Given the description of an element on the screen output the (x, y) to click on. 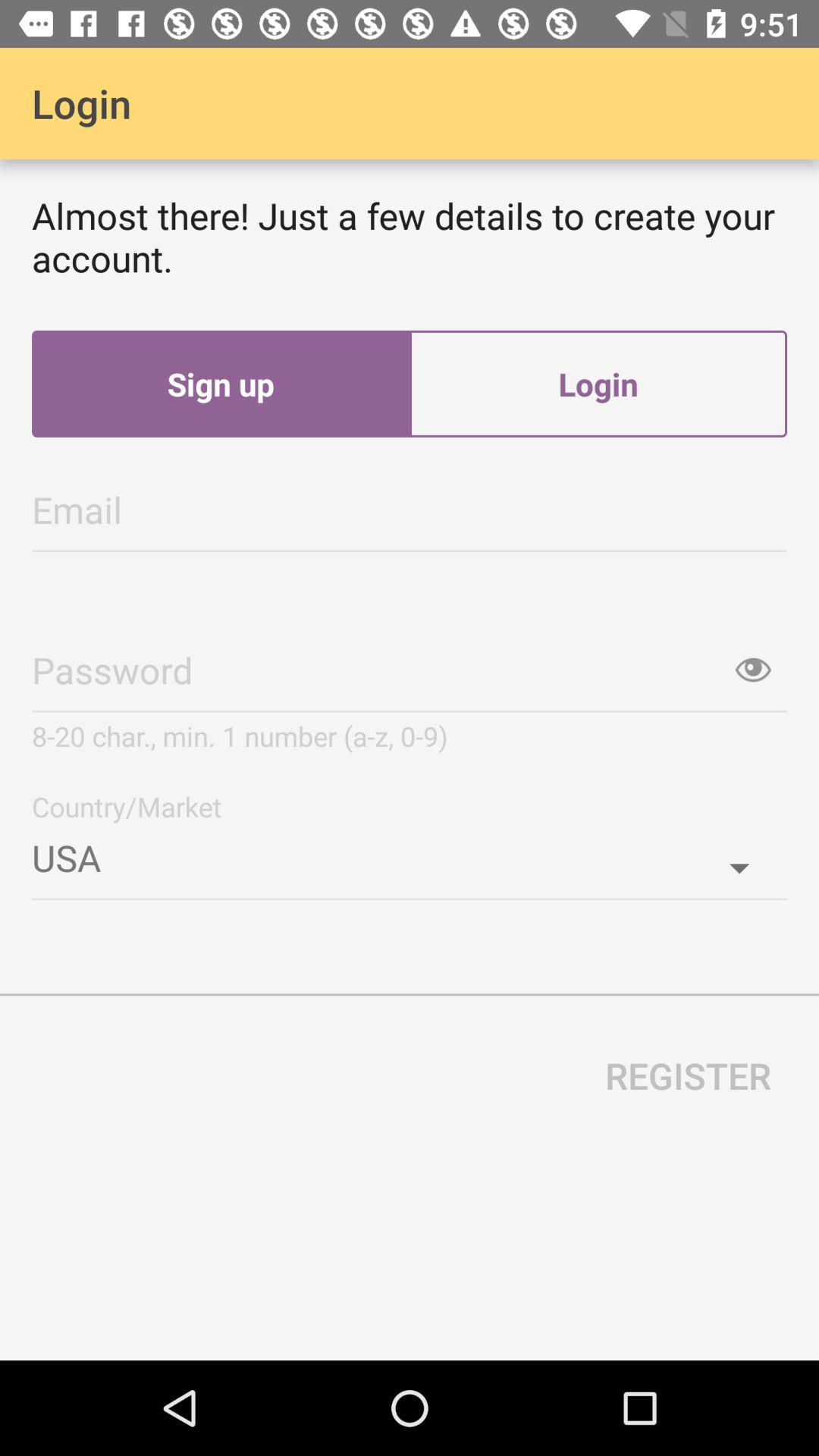
scroll until sign up icon (220, 383)
